Given the description of an element on the screen output the (x, y) to click on. 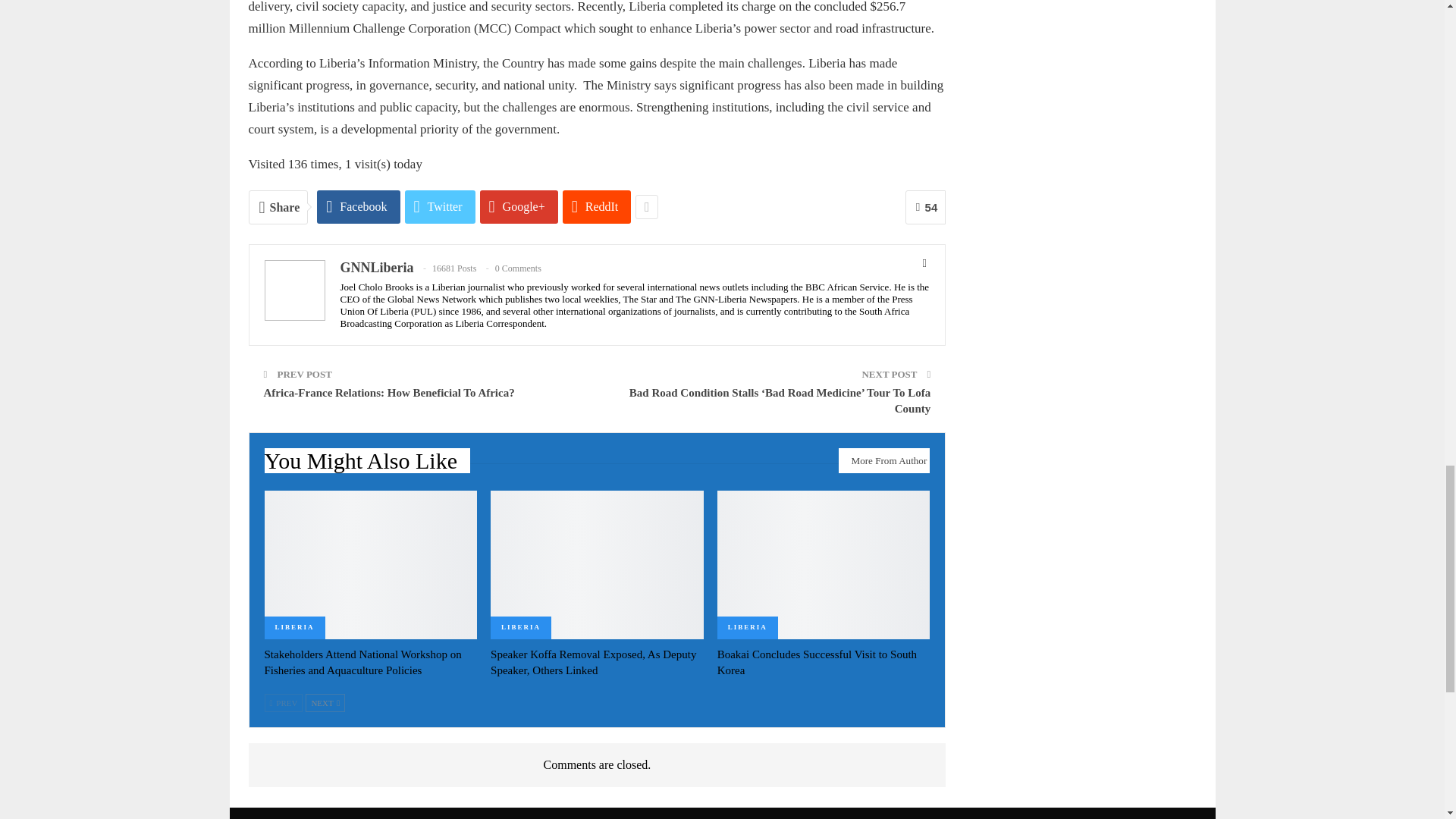
You Might Also Like (366, 463)
GNNLiberia (376, 266)
Africa-France Relations: How Beneficial To Africa? (389, 392)
LIBERIA (520, 627)
Boakai Concludes Successful Visit to South Korea (817, 662)
Twitter (440, 205)
Boakai Concludes Successful Visit to South Korea (823, 563)
